Given the description of an element on the screen output the (x, y) to click on. 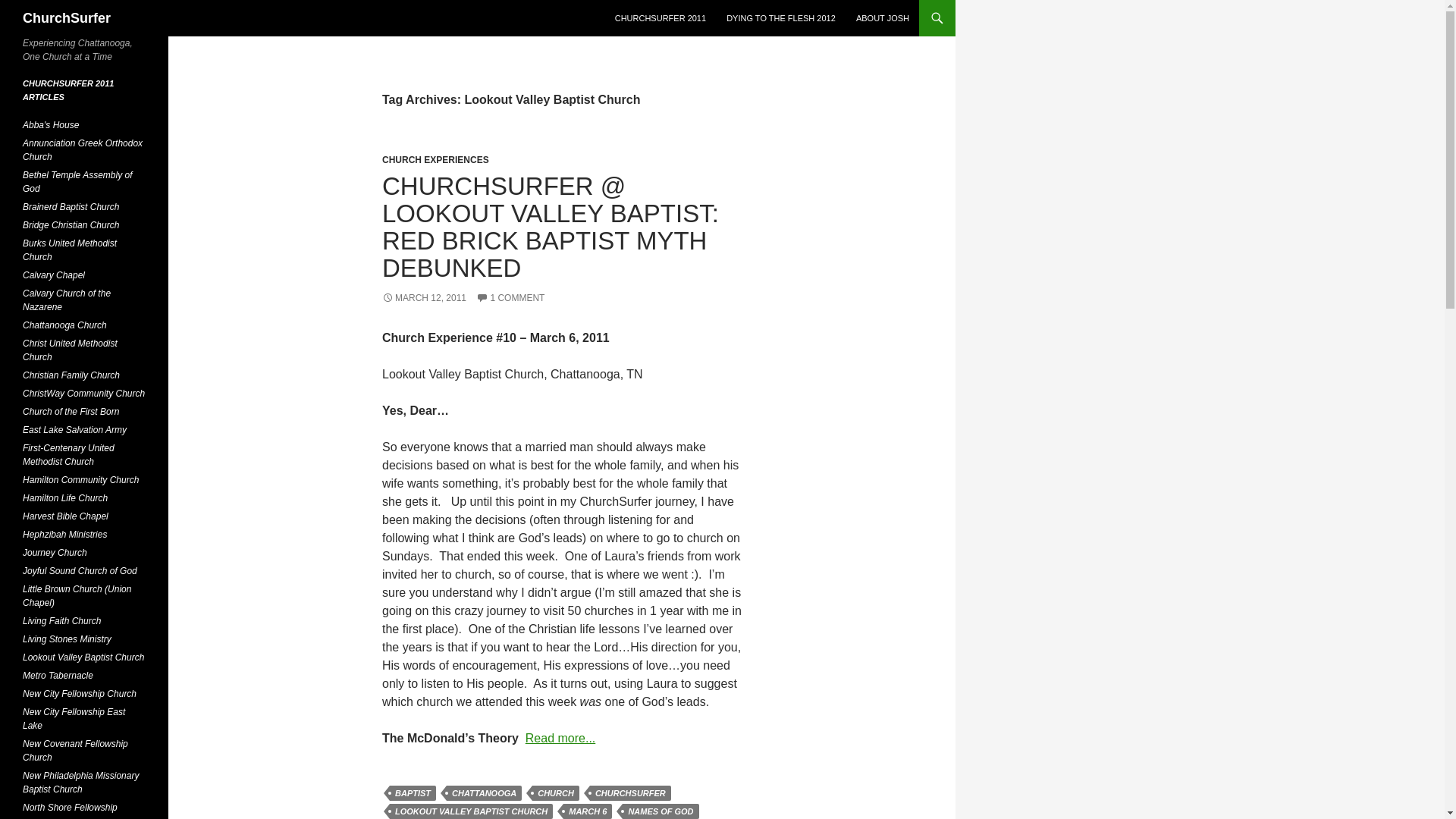
ChurchSurfer at Bridge Christian Church (71, 225)
Harvest Bible Chapel (65, 516)
LOOKOUT VALLEY BAPTIST CHURCH (471, 811)
Bethel Temple Assembly of God (77, 181)
Abba's House (50, 124)
Christian Family Church (71, 375)
Calvary Church of the Nazarene (66, 300)
Annunciation Greek Orthodox Church (82, 150)
ABOUT JOSH (882, 18)
Burks United Methodist Church (69, 250)
